Given the description of an element on the screen output the (x, y) to click on. 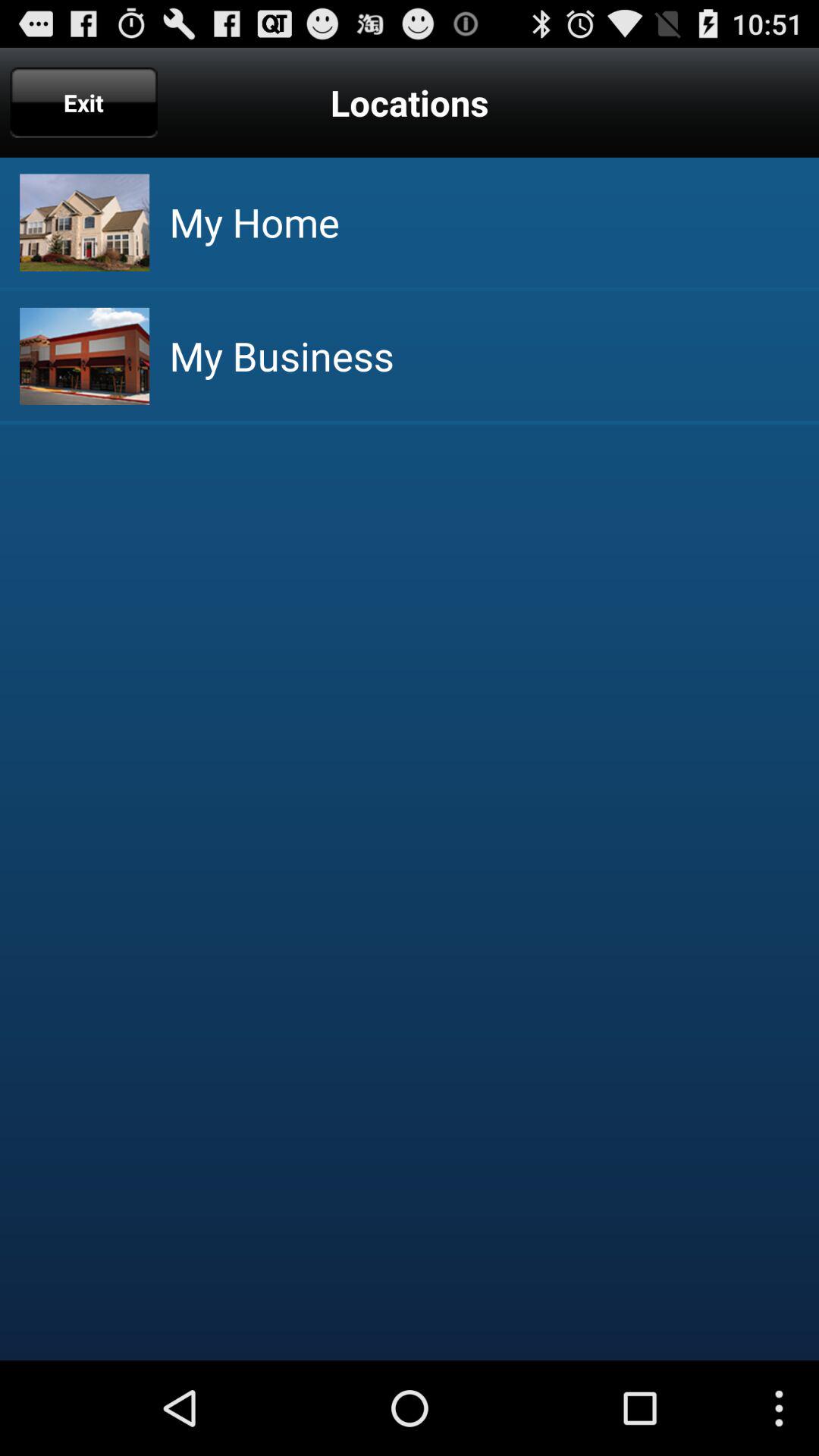
choose the exit item (83, 102)
